Given the description of an element on the screen output the (x, y) to click on. 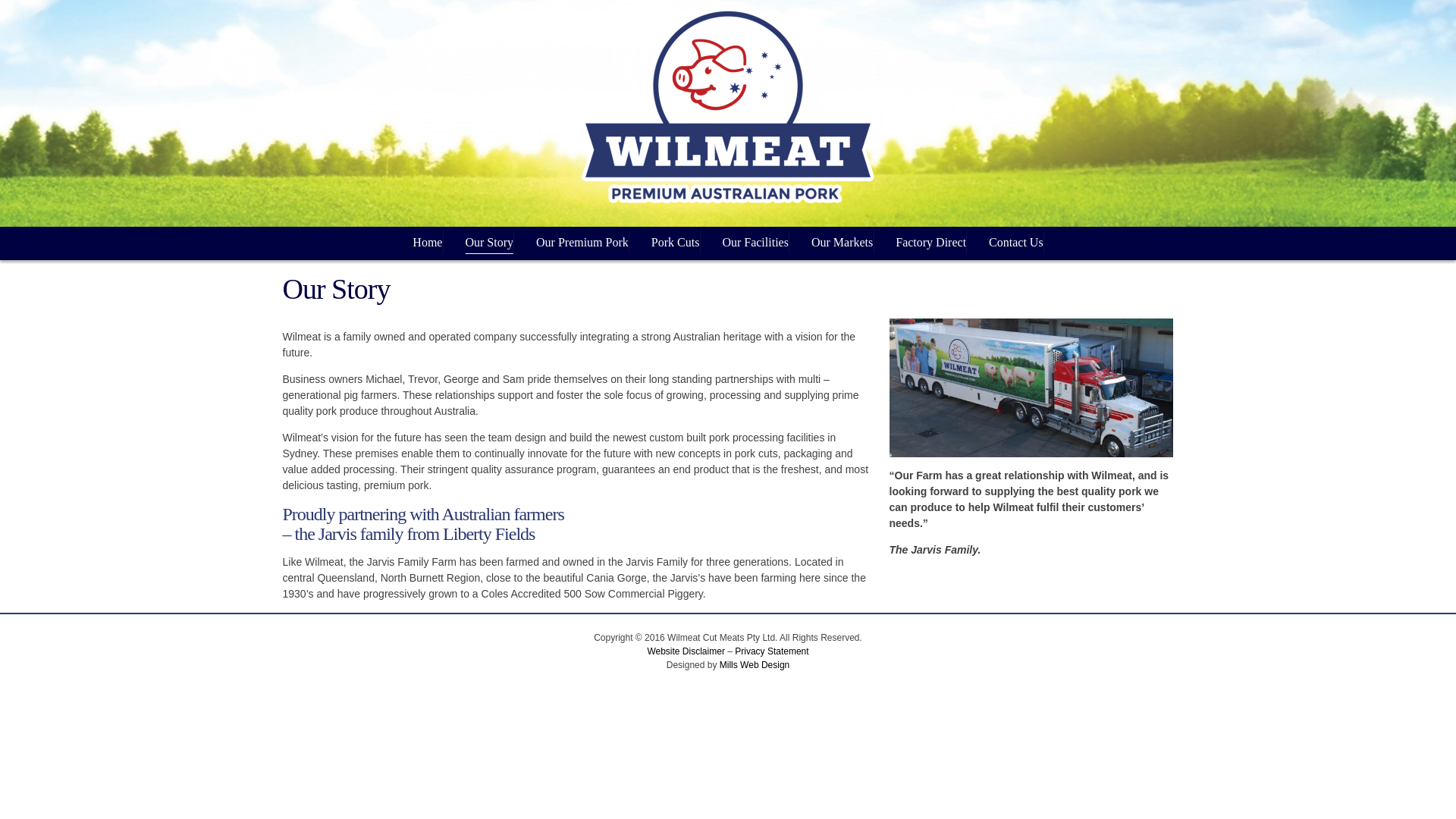
Mills Web Design (754, 665)
Pork Cuts (675, 241)
Our Facilities (755, 241)
Contact Us (1015, 241)
Our Story (488, 241)
Website Disclaimer (684, 651)
Home (427, 241)
Factory Direct (930, 241)
Our Premium Pork (581, 241)
Privacy Statement (771, 651)
Our Markets (841, 241)
